Given the description of an element on the screen output the (x, y) to click on. 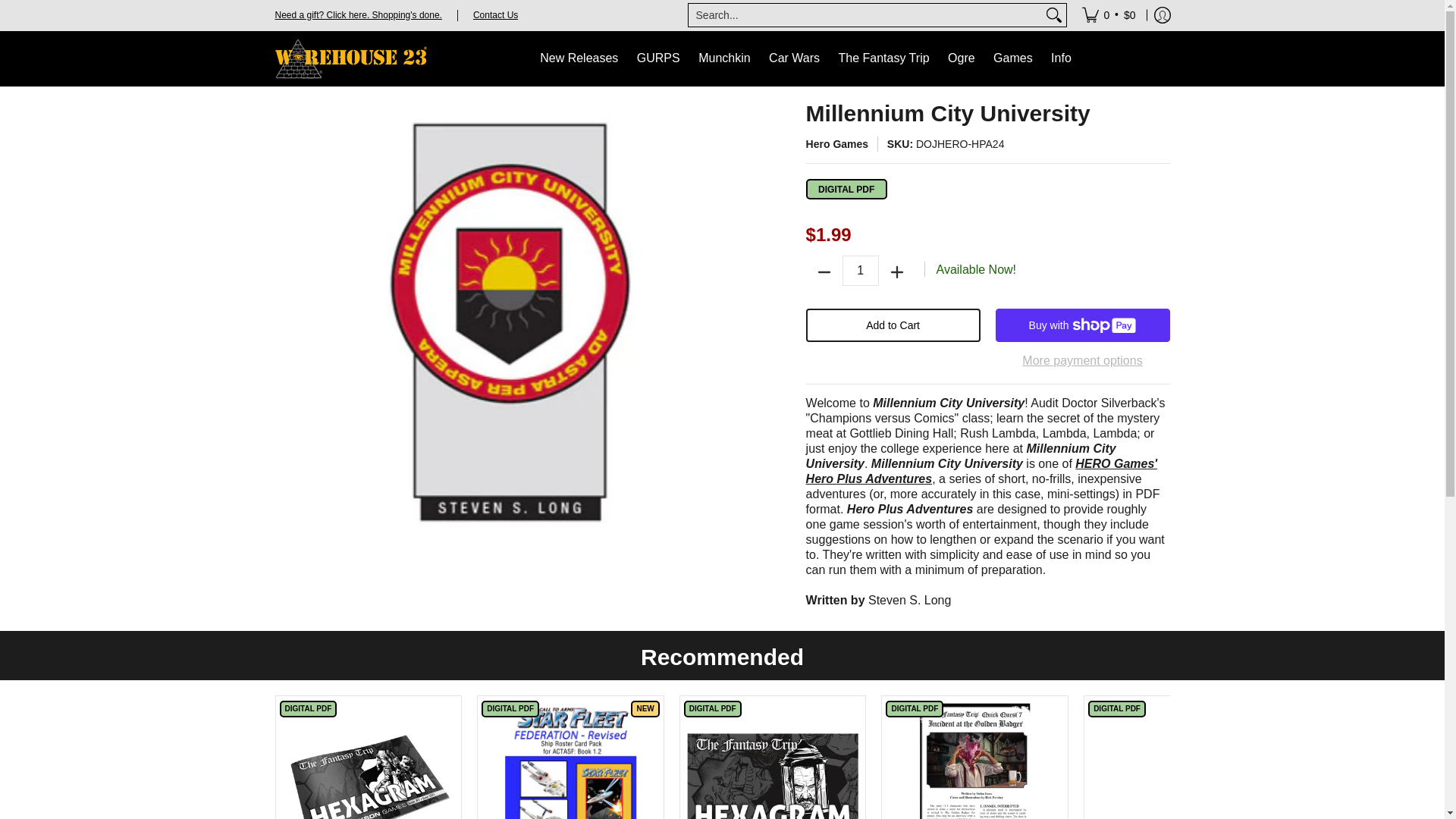
Games (1013, 58)
Hero Games (836, 143)
Need a gift? Click here. Shopping's done. (358, 14)
Skip to Main Content (2, 9)
Munchkin (723, 58)
Cart (1108, 15)
Car Wars (794, 58)
Warehouse 23 (350, 58)
GURPS (657, 58)
The Fantasy Trip (884, 58)
New Releases (579, 58)
Munchkin (723, 58)
Skip to Main Content (276, 111)
Log in (1161, 15)
GURPS (657, 58)
